Given the description of an element on the screen output the (x, y) to click on. 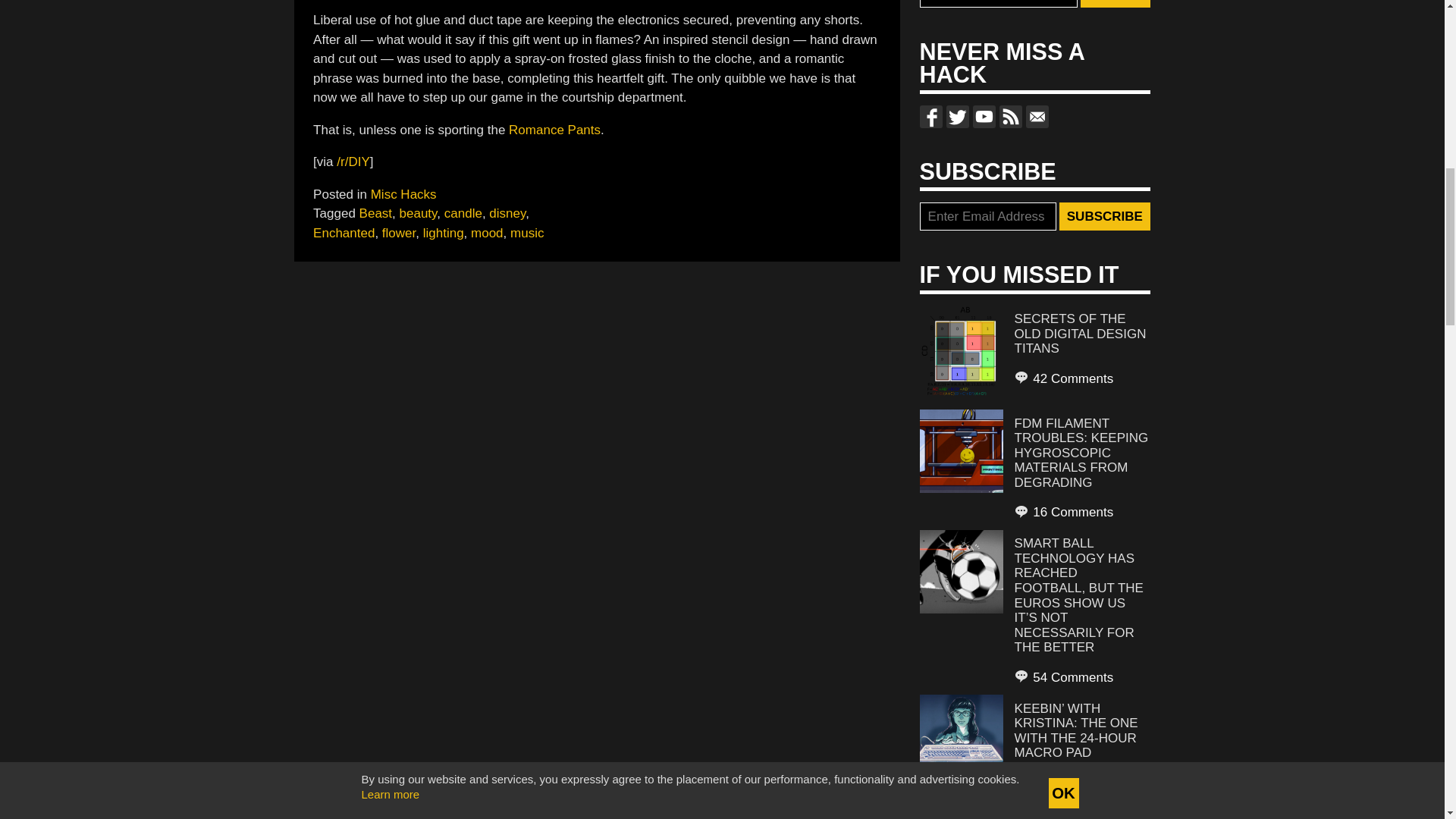
Search (1115, 4)
beauty (418, 213)
disney (507, 213)
Misc Hacks (403, 193)
Romance Pants (553, 129)
Beast (375, 213)
candle (462, 213)
Search (1115, 4)
music (527, 233)
Subscribe (1104, 216)
mood (486, 233)
flower (397, 233)
lighting (443, 233)
Enchanted (343, 233)
